Given the description of an element on the screen output the (x, y) to click on. 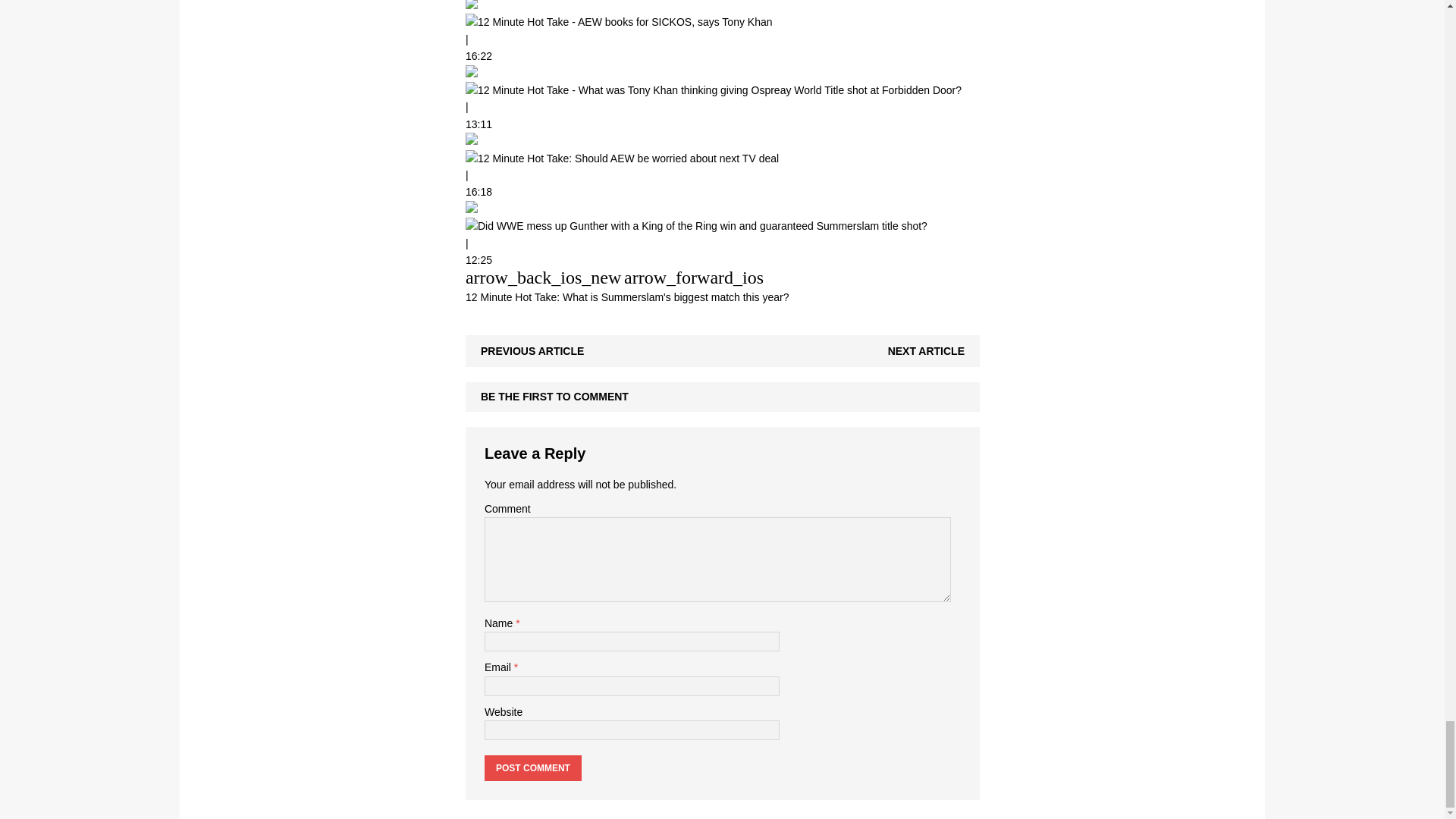
Post Comment (532, 768)
